Given the description of an element on the screen output the (x, y) to click on. 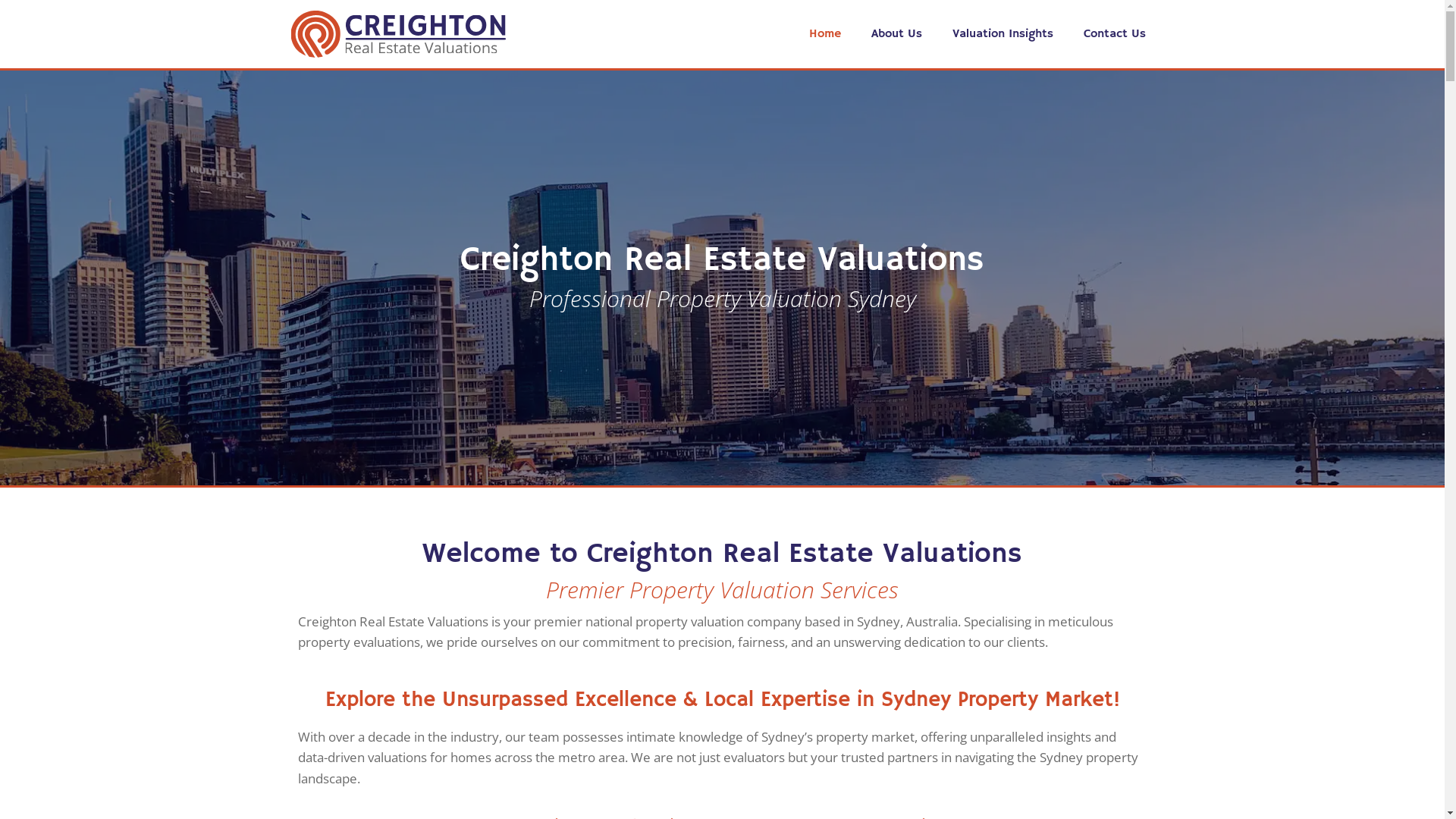
About Us Element type: text (896, 33)
Home Element type: text (824, 33)
Valuation Insights Element type: text (1002, 33)
Contact Us Element type: text (1114, 33)
